Given the description of an element on the screen output the (x, y) to click on. 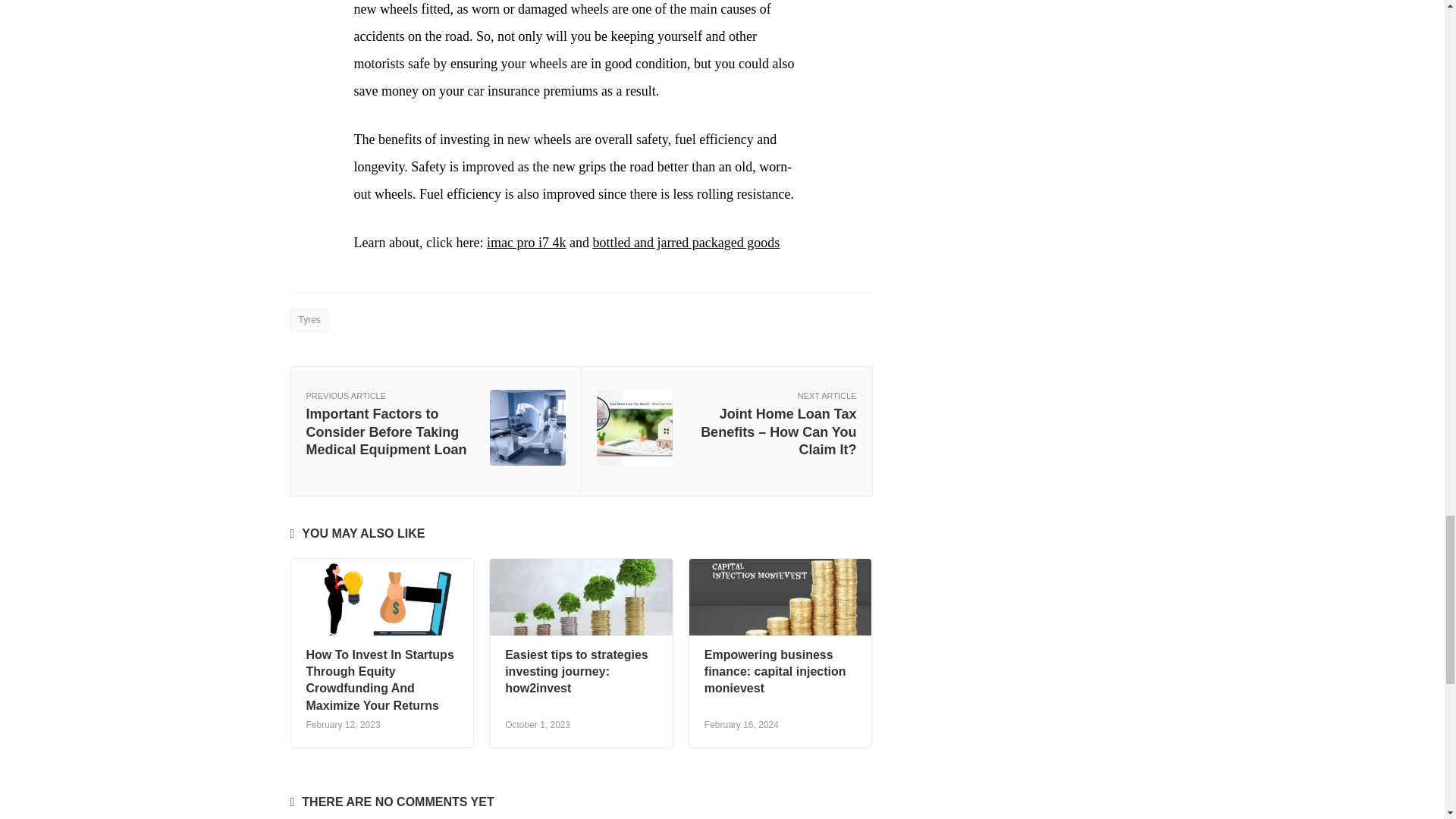
Empowering business finance: capital injection monievest (774, 671)
View all posts in Tyres (309, 319)
February 12, 2023 (342, 724)
Tyres (309, 319)
Easiest tips to strategies investing journey: how2invest (576, 671)
imac pro i7 4k (526, 242)
October 1, 2023 (537, 724)
bottled and jarred packaged goods (685, 242)
